Given the description of an element on the screen output the (x, y) to click on. 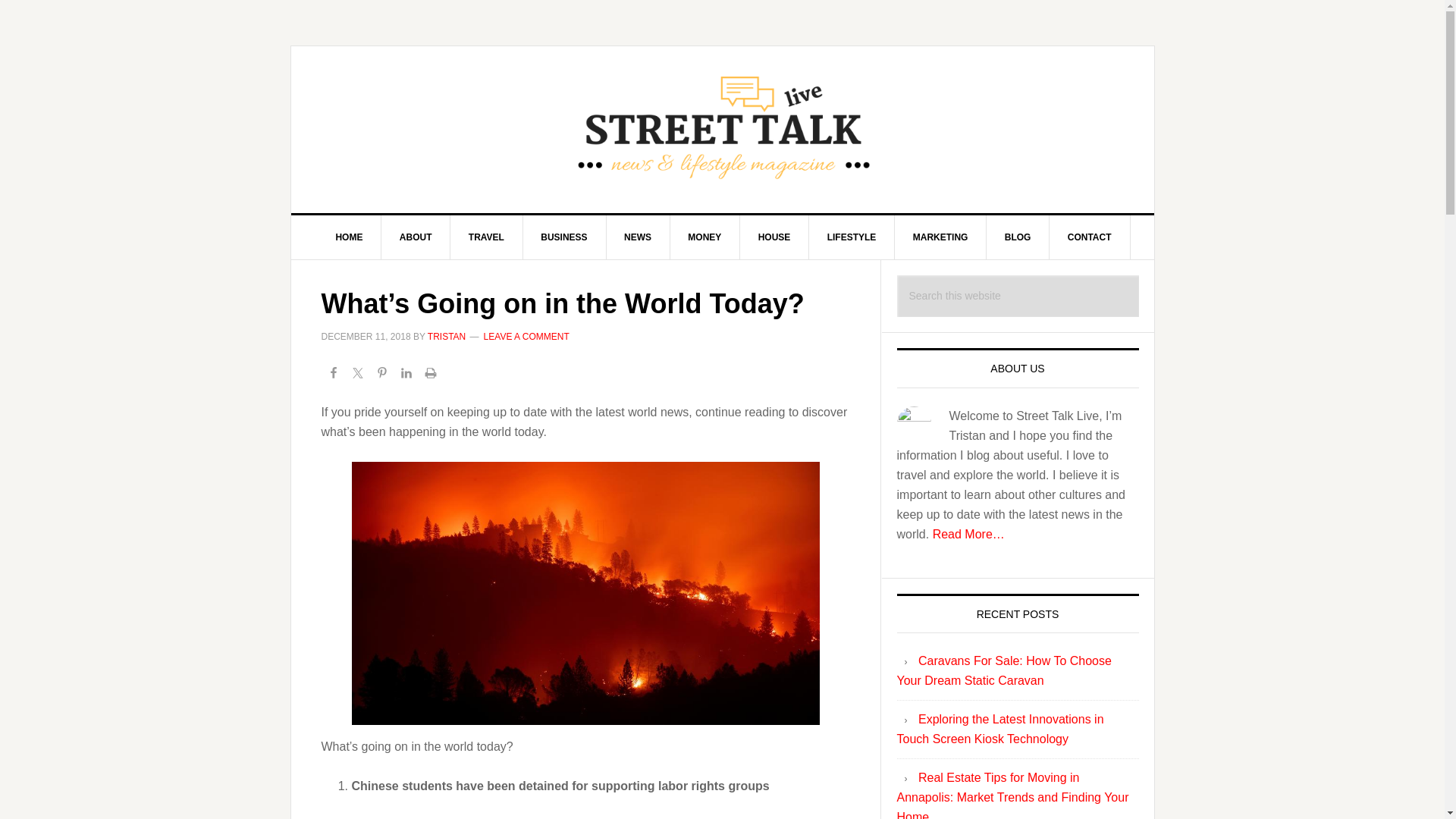
TRISTAN (446, 336)
TRAVEL (485, 237)
MARKETING (941, 237)
HOME (349, 237)
Share on LinkedIn (406, 374)
Share on Pinterest (381, 374)
CONTACT (1090, 237)
Share on Facebook (333, 374)
HOUSE (774, 237)
ABOUT (416, 237)
STREET TALK LIVE (722, 129)
LEAVE A COMMENT (526, 336)
Print this Page (430, 374)
